Given the description of an element on the screen output the (x, y) to click on. 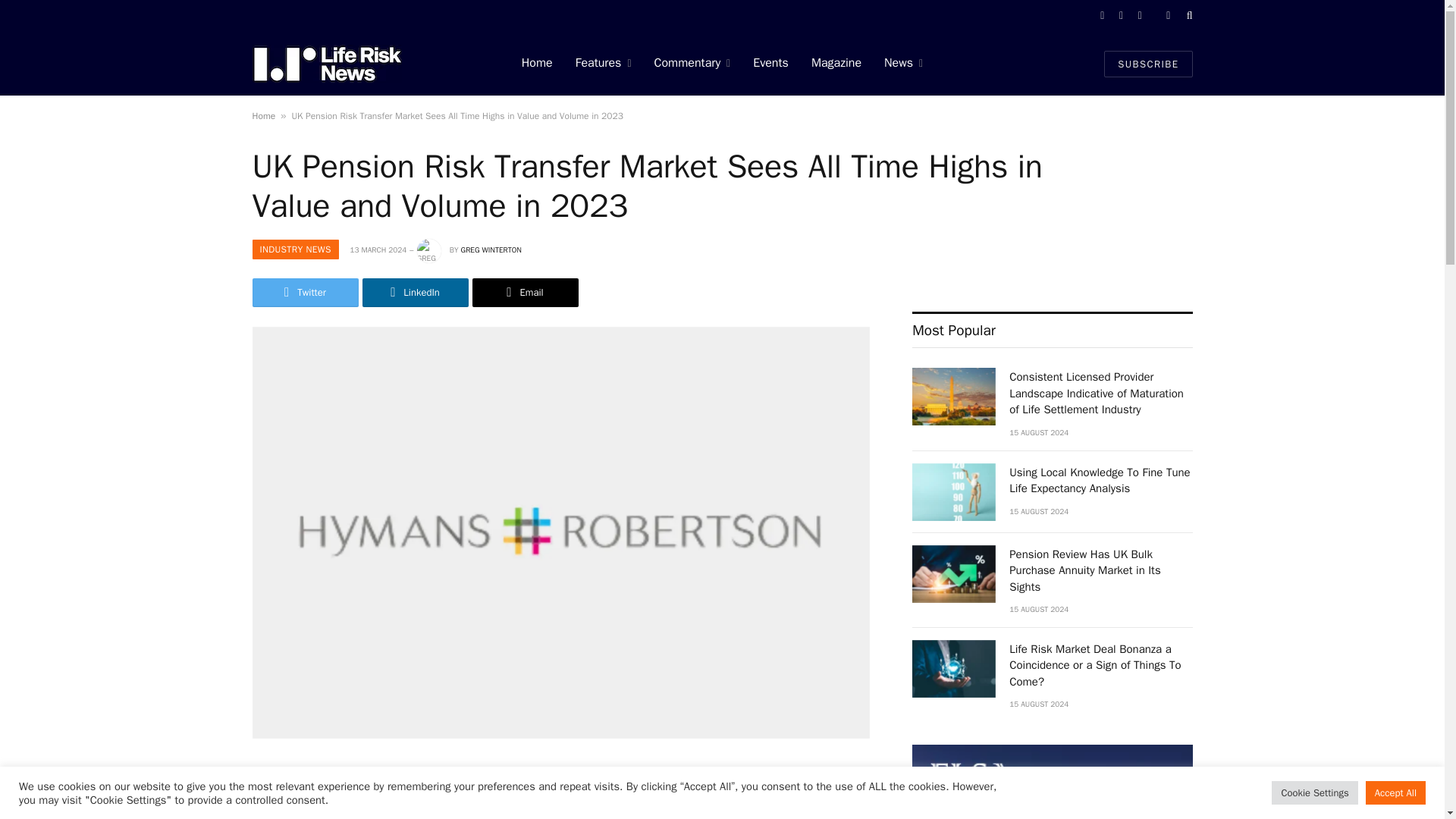
Switch to Dark Design - easier on eyes. (1168, 15)
Life Risk News (326, 63)
Features (603, 63)
Commentary (692, 63)
